Given the description of an element on the screen output the (x, y) to click on. 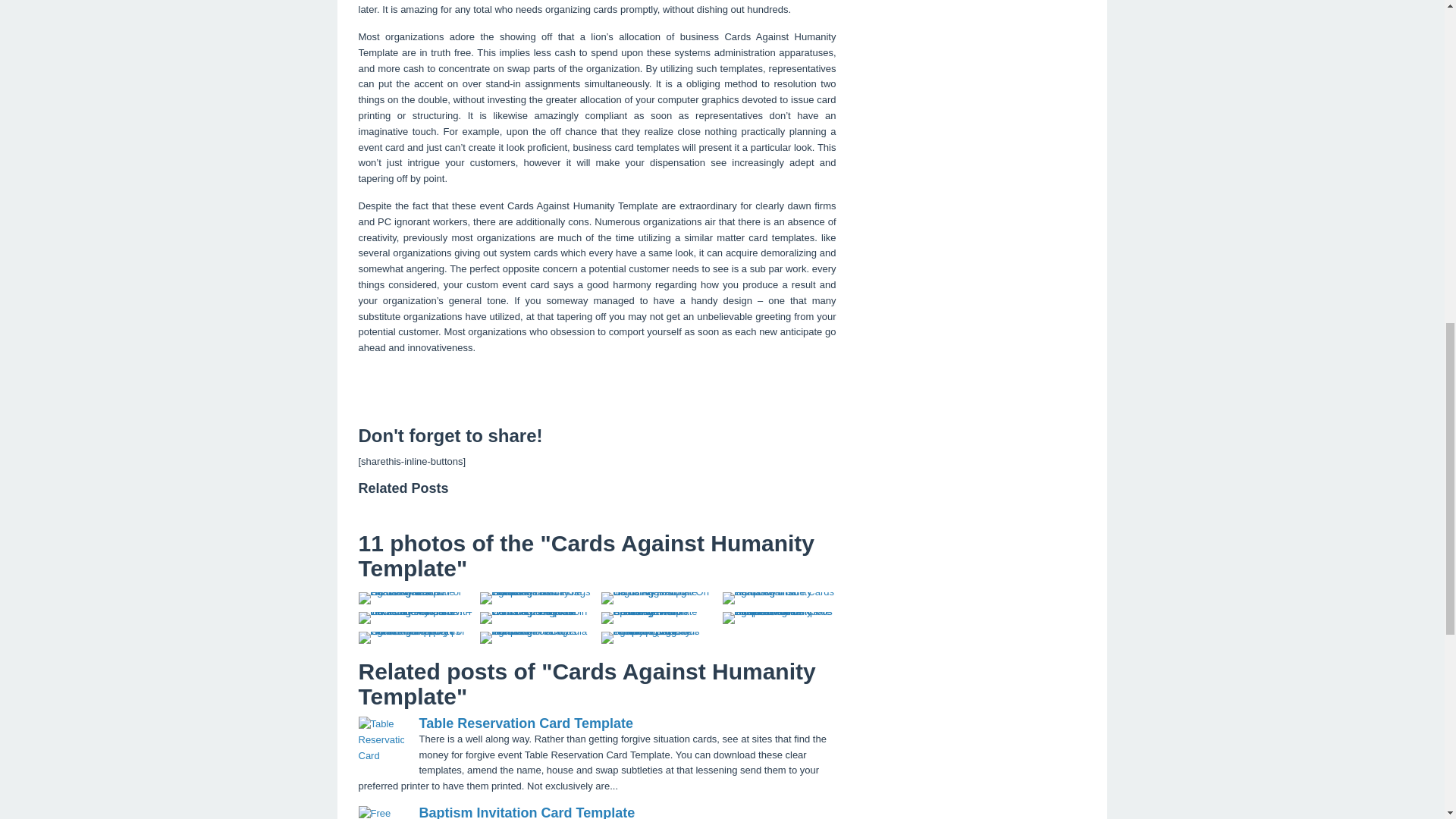
Table Reservation Card Template (525, 723)
Baptism Invitation Card Template (526, 812)
